Given the description of an element on the screen output the (x, y) to click on. 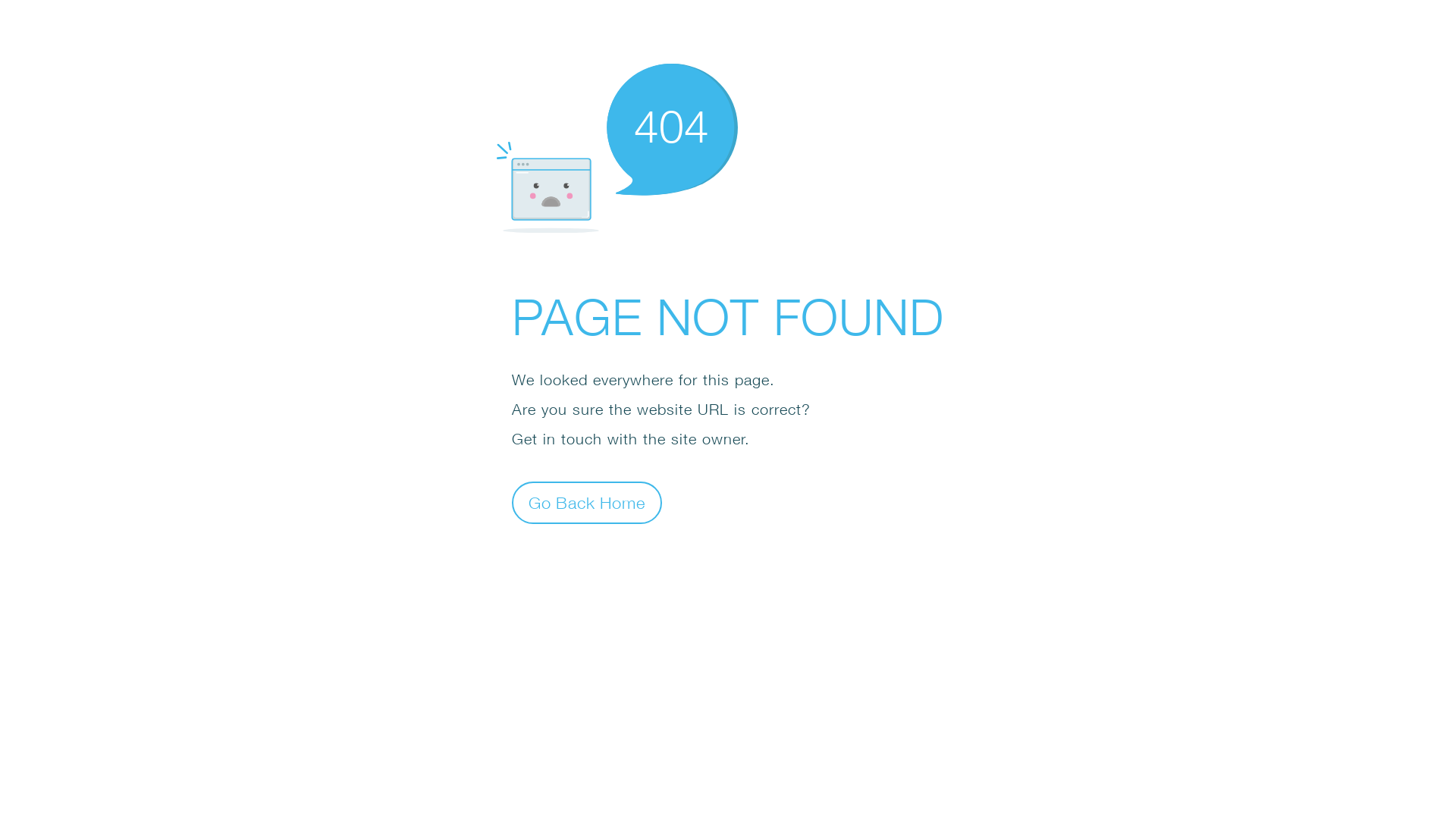
Go Back Home Element type: text (586, 502)
